Given the description of an element on the screen output the (x, y) to click on. 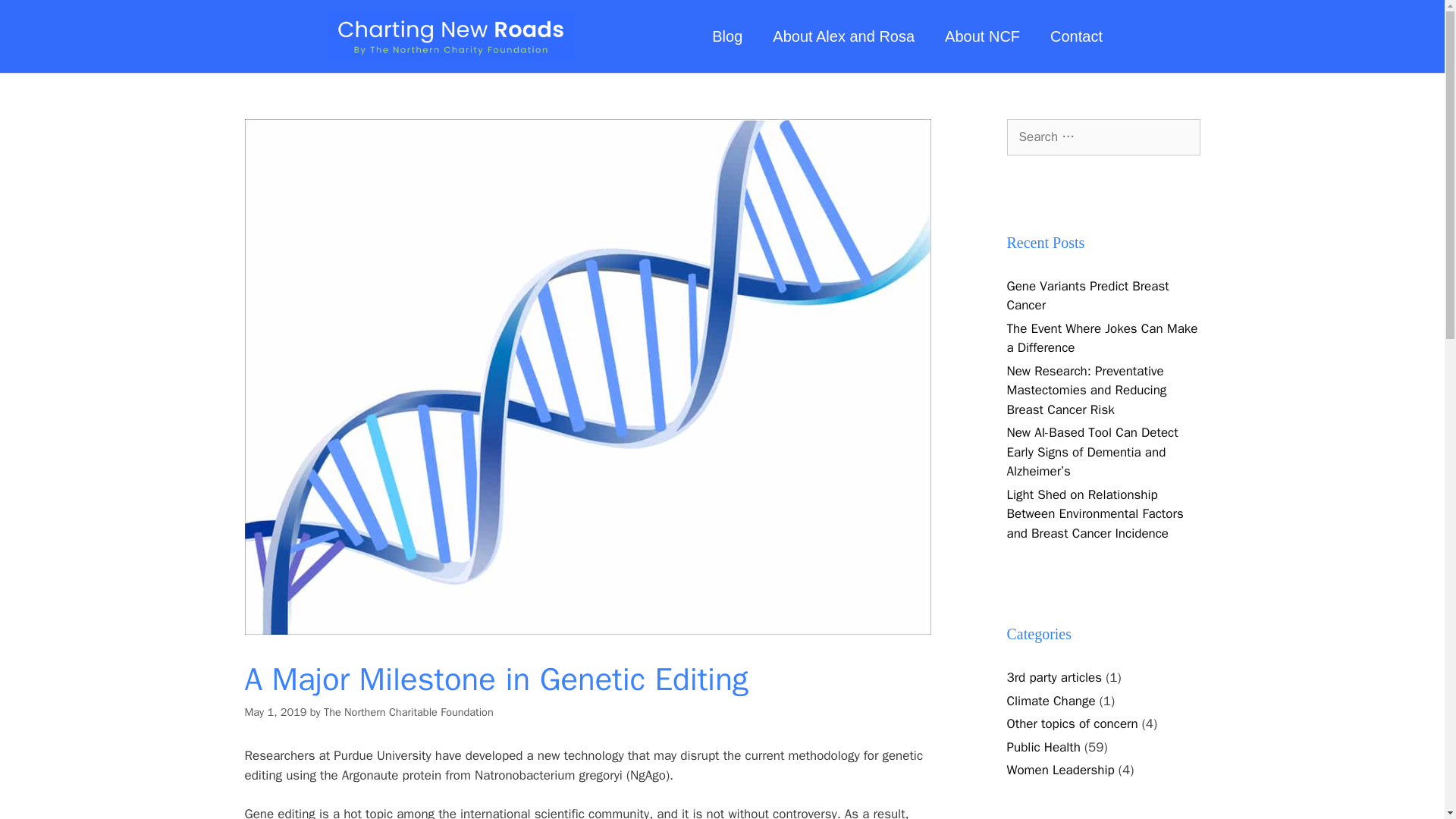
Climate Change (1051, 700)
Public Health (1043, 747)
Search for: (1103, 136)
3rd party articles (1054, 677)
The Event Where Jokes Can Make a Difference (1102, 338)
The Northern Charitable Foundation (408, 712)
Other topics of concern (1072, 723)
Gene Variants Predict Breast Cancer (1088, 295)
Contact (1076, 2)
Search (36, 18)
Women Leadership (1061, 770)
About NCF (982, 1)
View all posts by The Northern Charitable Foundation (408, 712)
